Given the description of an element on the screen output the (x, y) to click on. 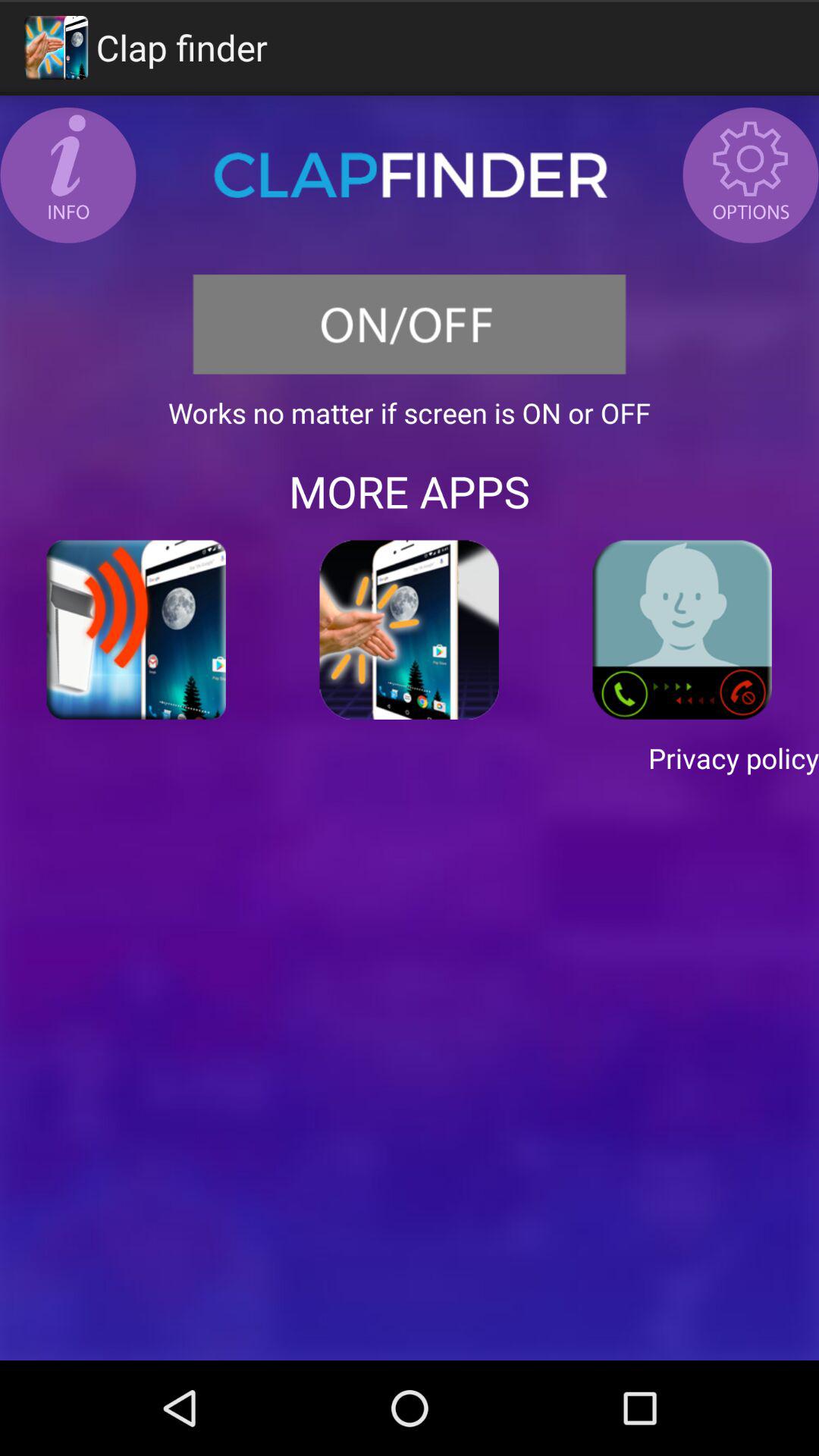
select the icon below the more apps (409, 629)
